Given the description of an element on the screen output the (x, y) to click on. 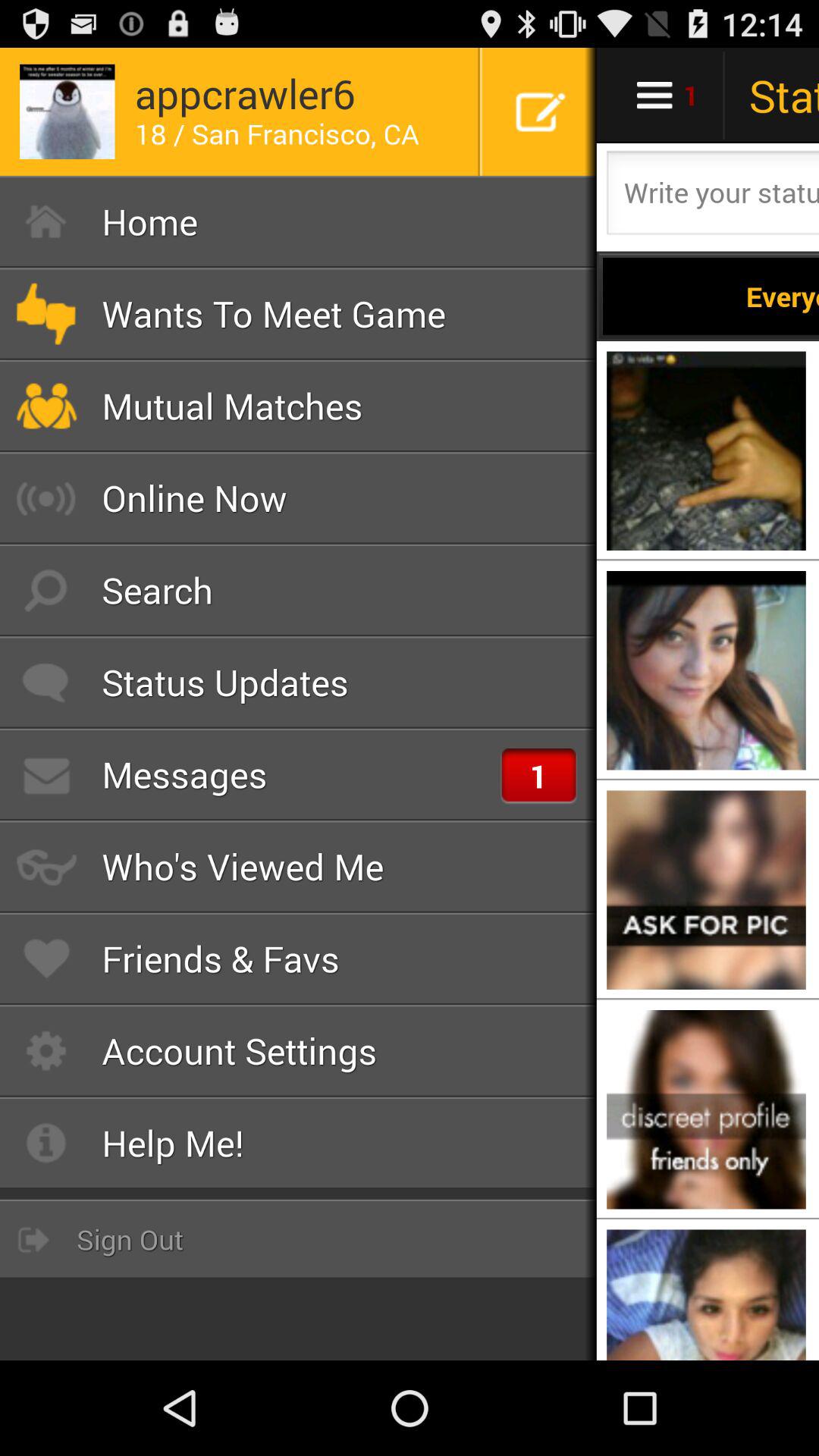
swipe until the search icon (298, 590)
